Given the description of an element on the screen output the (x, y) to click on. 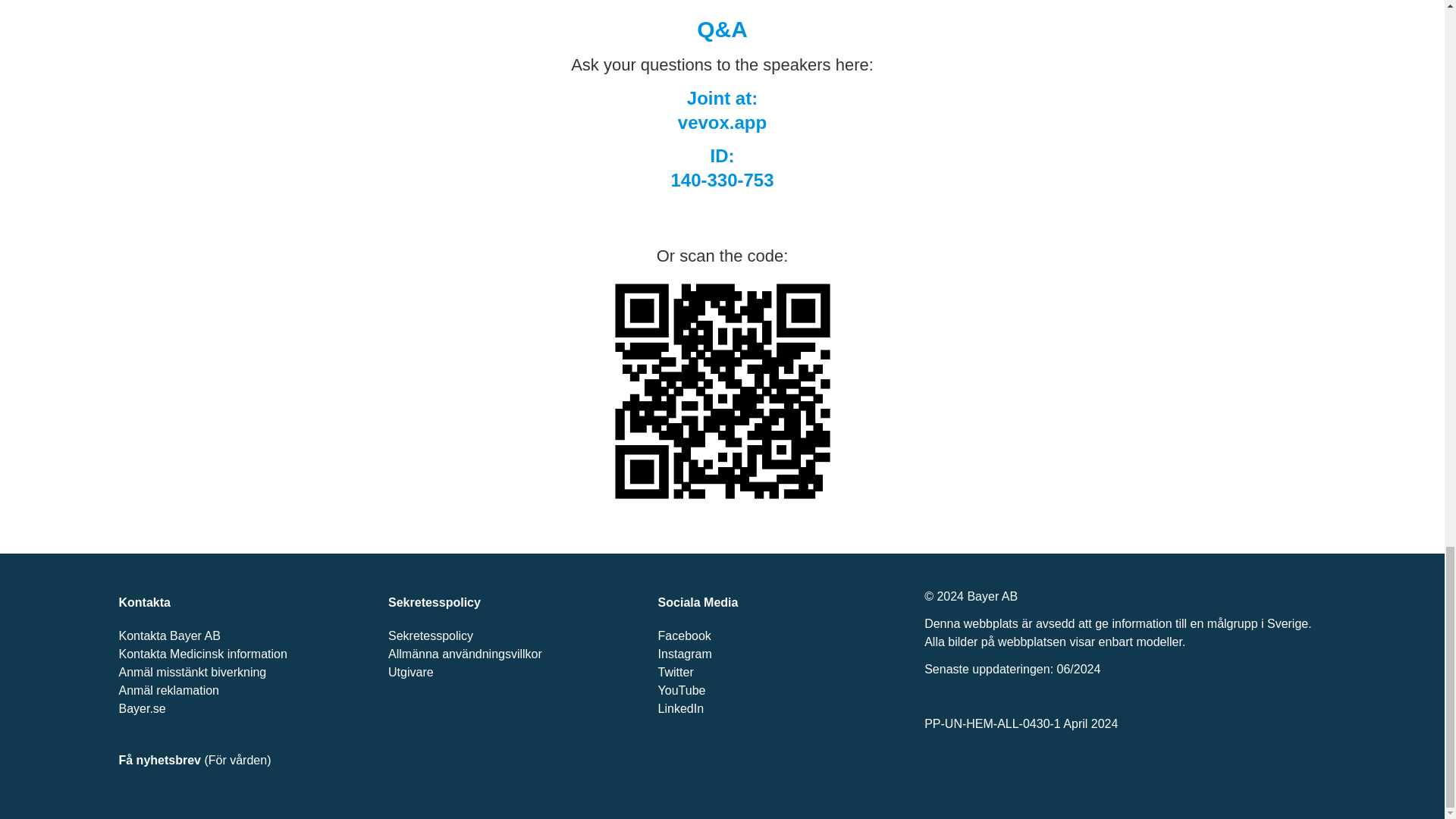
Title (721, 391)
LinkedIn (681, 707)
Utgivare (410, 671)
Kontakta Medicinsk information (201, 653)
Kontakta Bayer AB (168, 635)
Instagram (684, 653)
Sekretesspolicy (430, 635)
Twitter (676, 671)
YouTube (682, 689)
Facebook (684, 635)
